Given the description of an element on the screen output the (x, y) to click on. 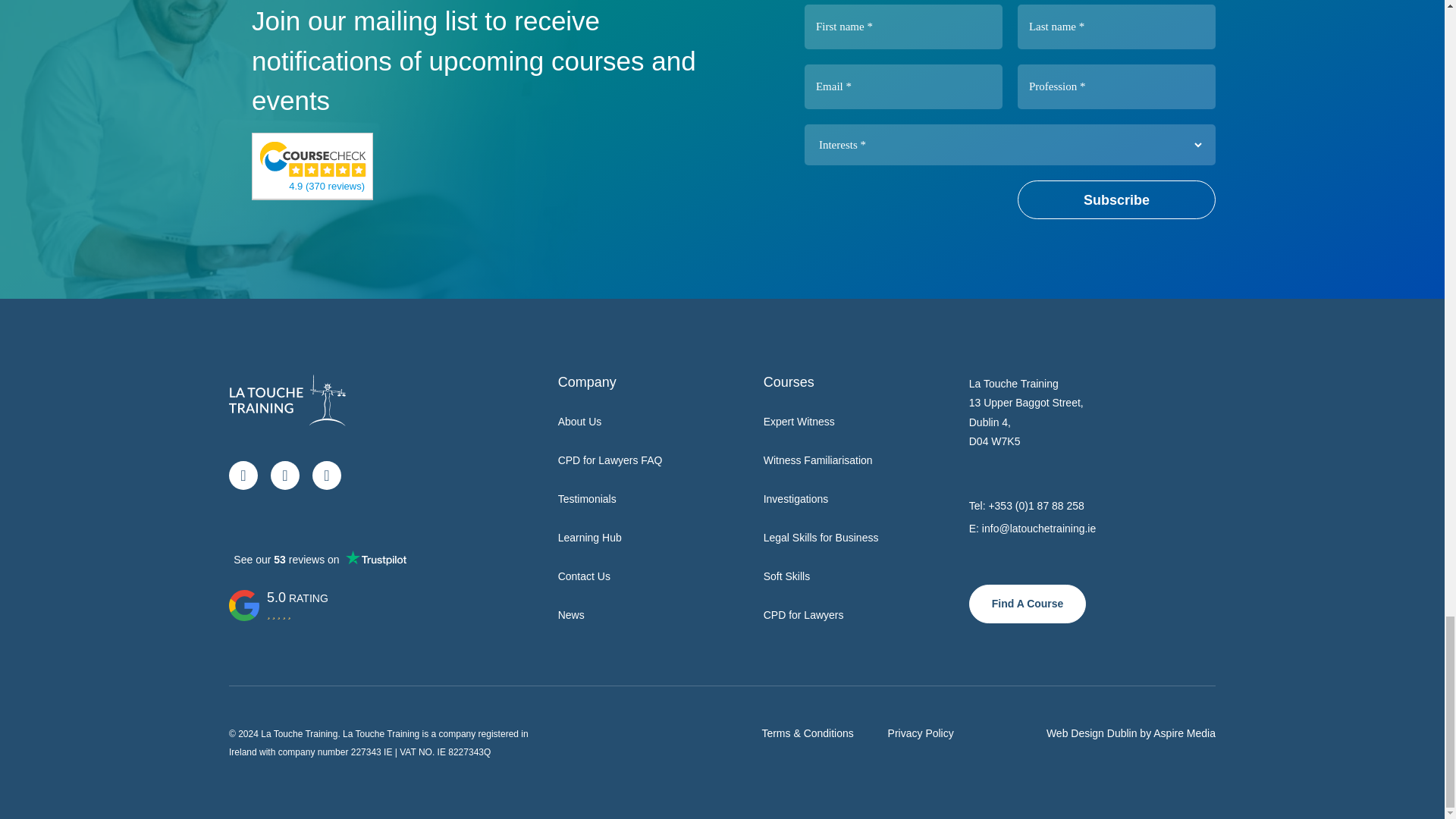
Read reviews about La Touche Training (313, 157)
Subscribe (1116, 199)
Customer reviews powered by Trustpilot (319, 559)
Read reviews about La Touche Training (326, 185)
